Given the description of an element on the screen output the (x, y) to click on. 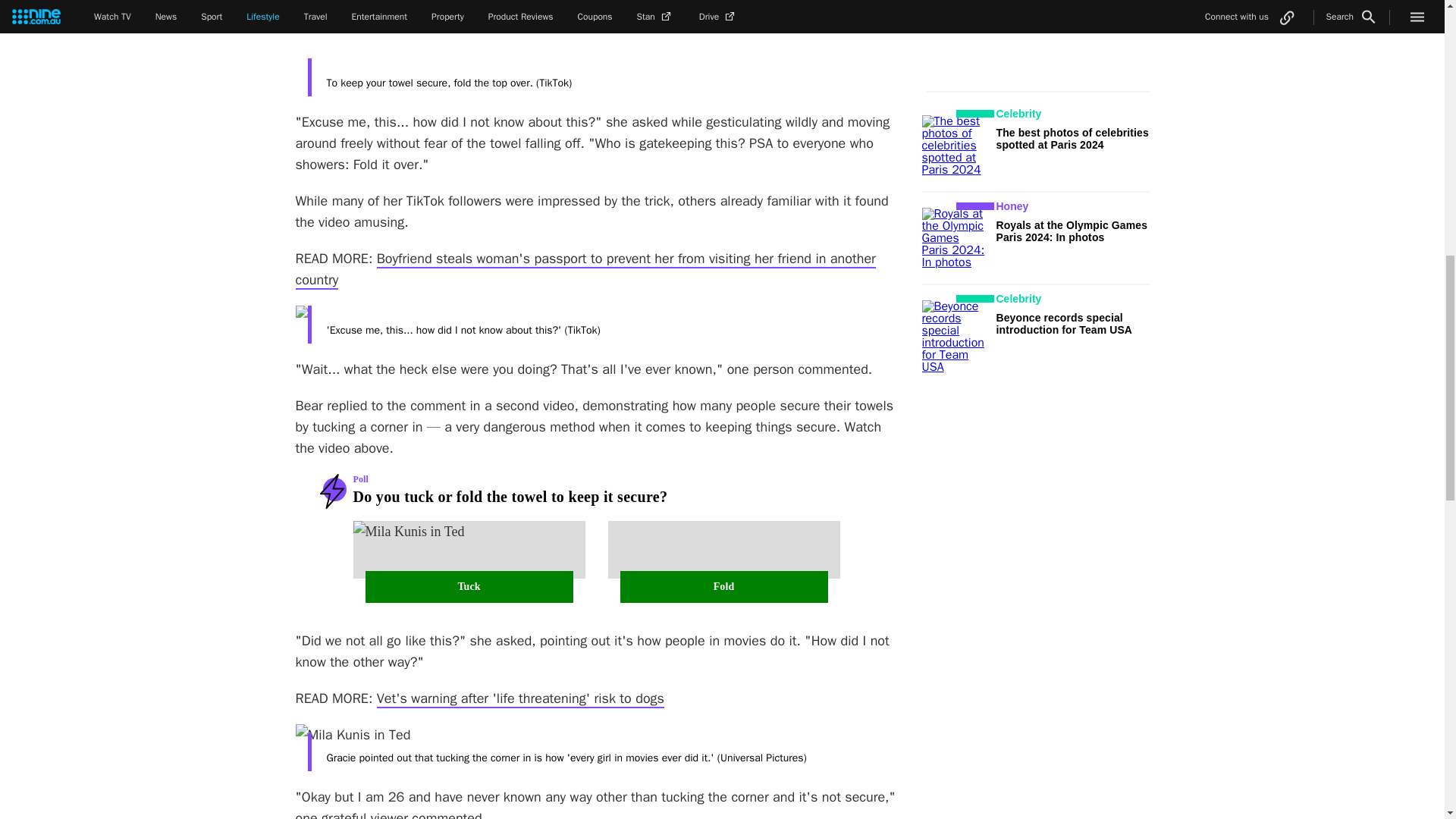
Vet's warning after 'life threatening' risk to dogs (520, 699)
